Given the description of an element on the screen output the (x, y) to click on. 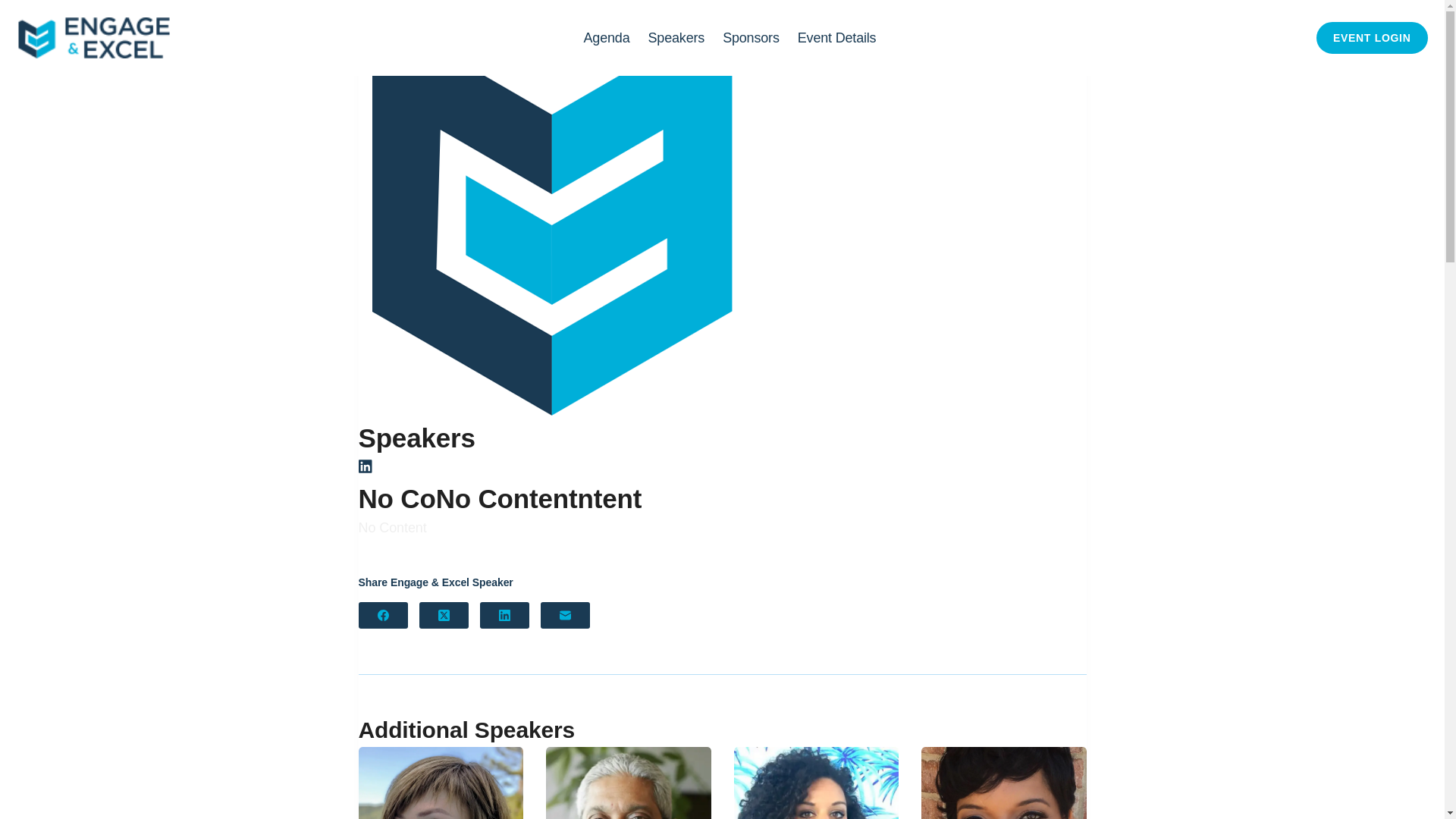
Speakers (676, 38)
Skip to content (15, 7)
EVENT LOGIN (1372, 38)
Event Details (837, 38)
Sponsors (751, 38)
